Given the description of an element on the screen output the (x, y) to click on. 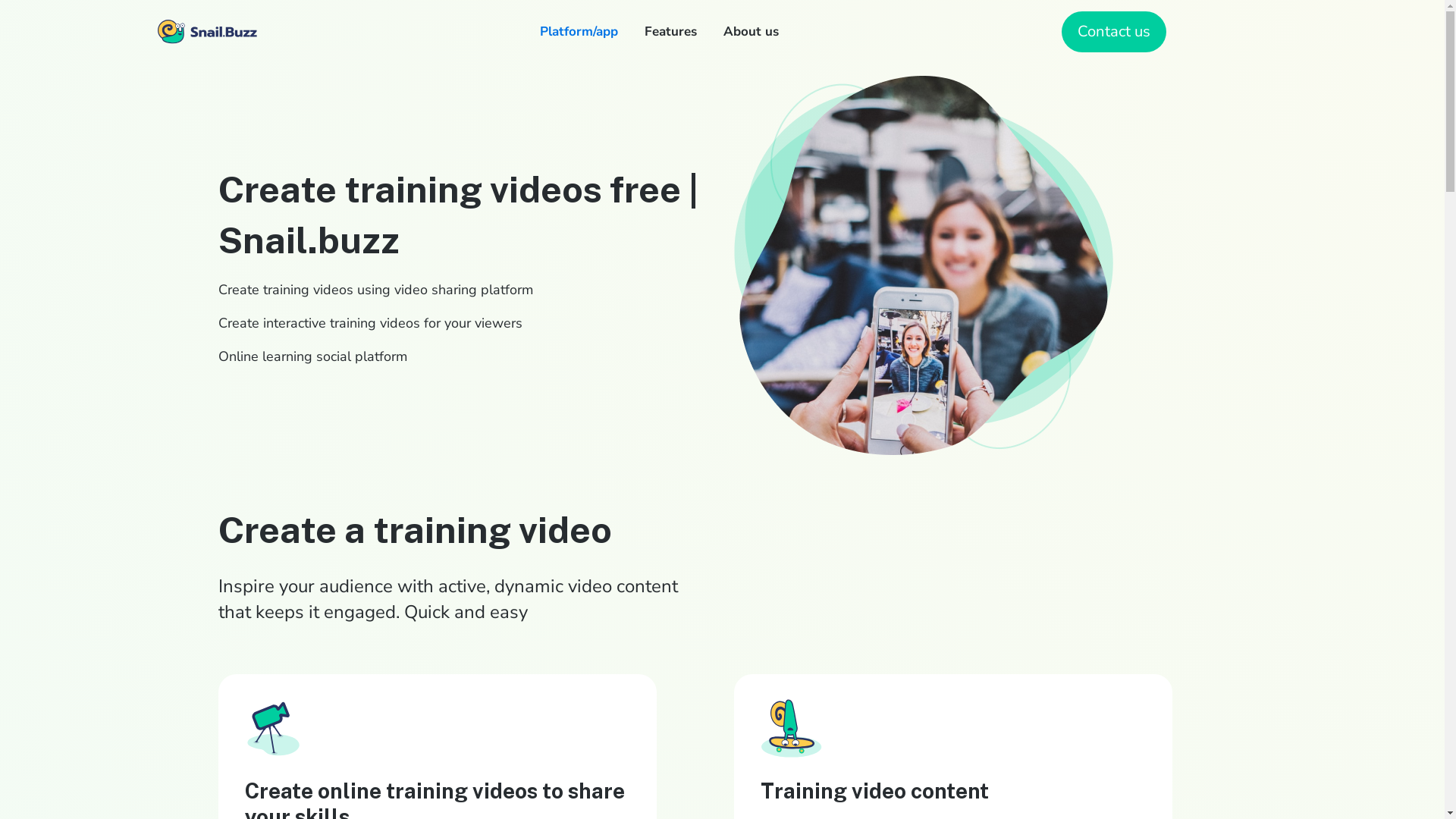
About us Element type: text (750, 31)
Features Element type: text (670, 31)
Platform/app Element type: text (578, 31)
Social learning platform | Snail.buzz Element type: text (203, 97)
Contact us Element type: text (1113, 31)
